Given the description of an element on the screen output the (x, y) to click on. 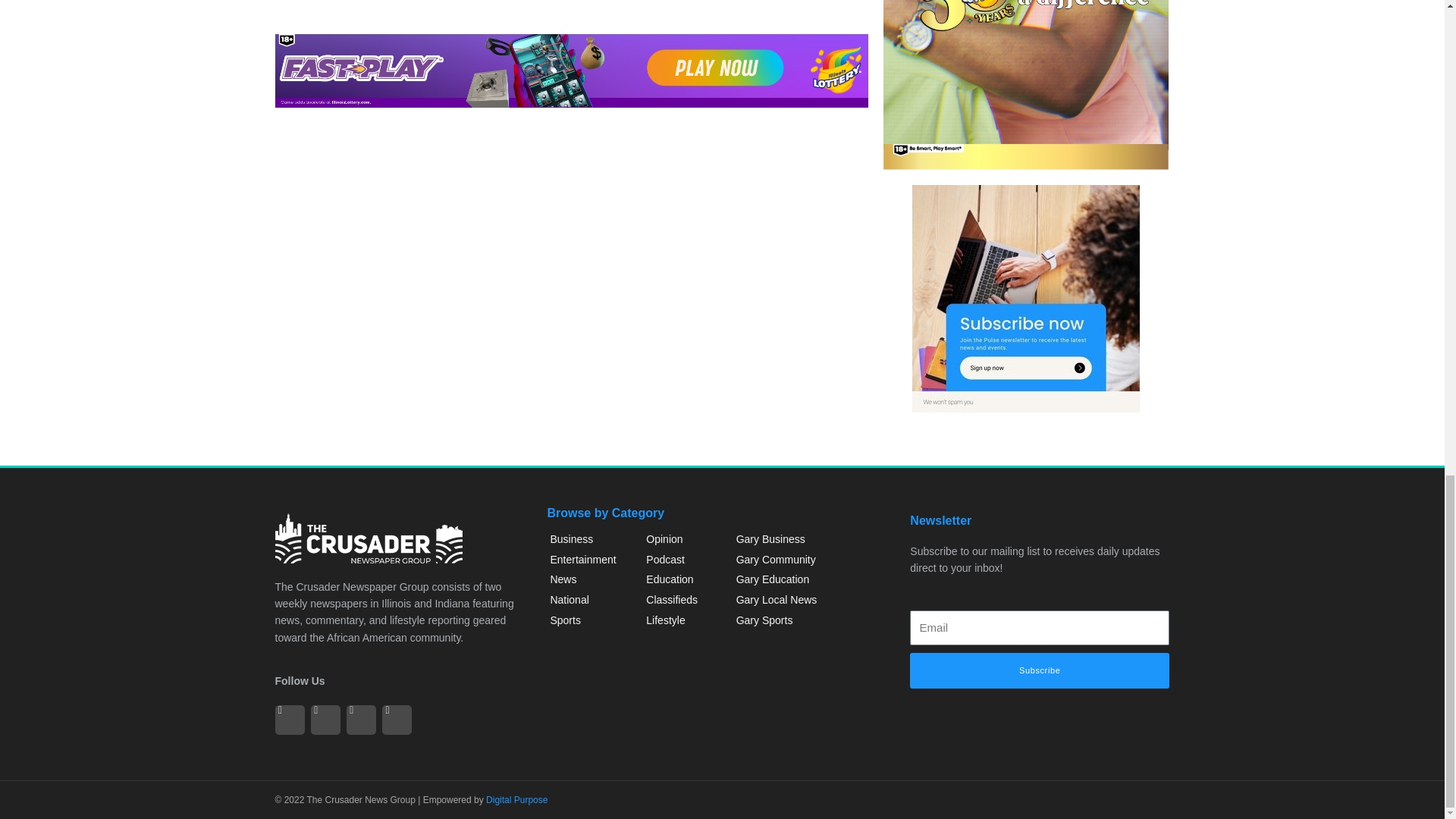
50th Anniversary-Lottery-RIGHT VERTICAL BANNER (1026, 84)
Fast Play-Lottery-Footer-July 2024 (571, 70)
